Given the description of an element on the screen output the (x, y) to click on. 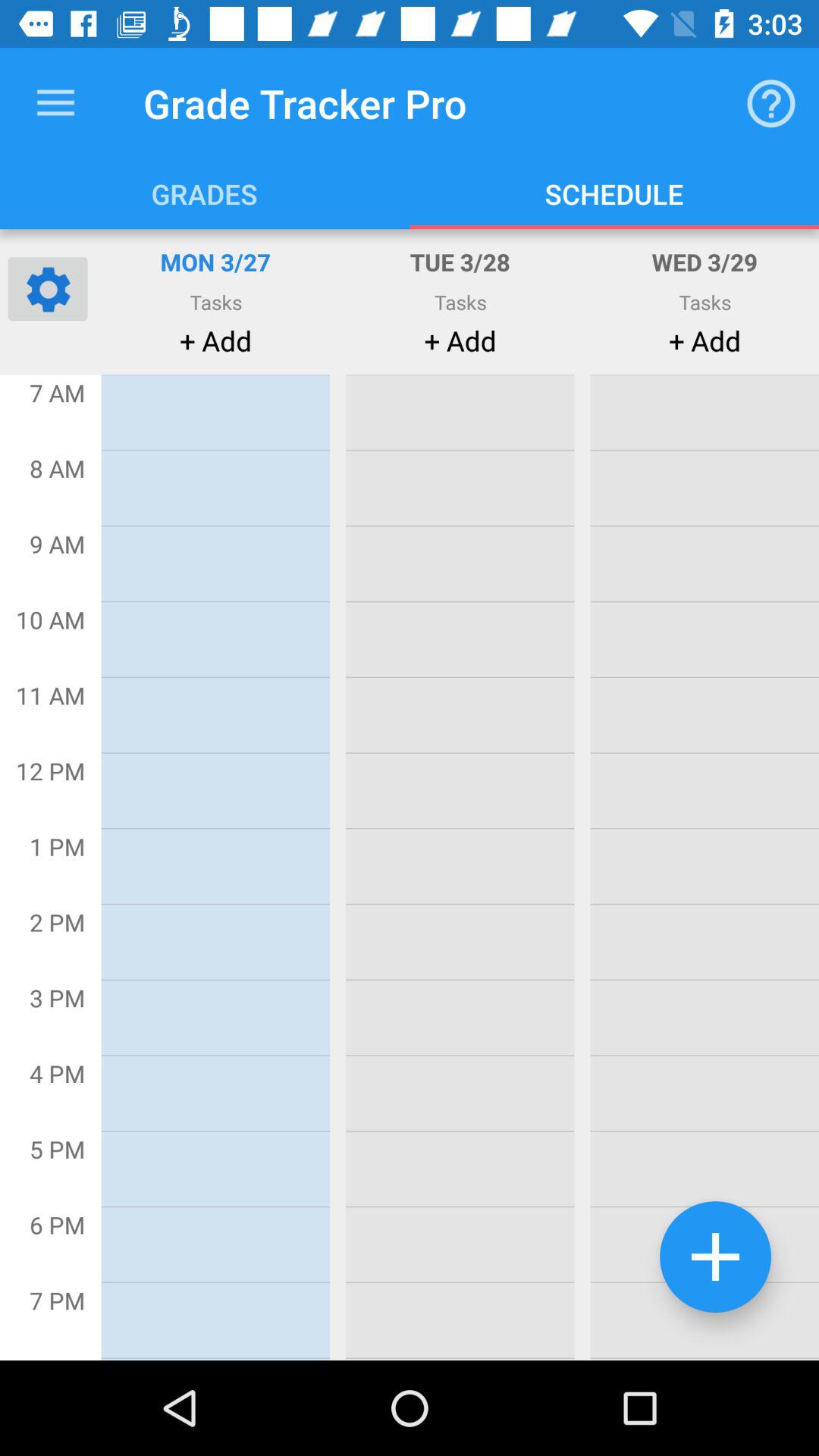
tap the item next to grade tracker pro item (771, 103)
